Given the description of an element on the screen output the (x, y) to click on. 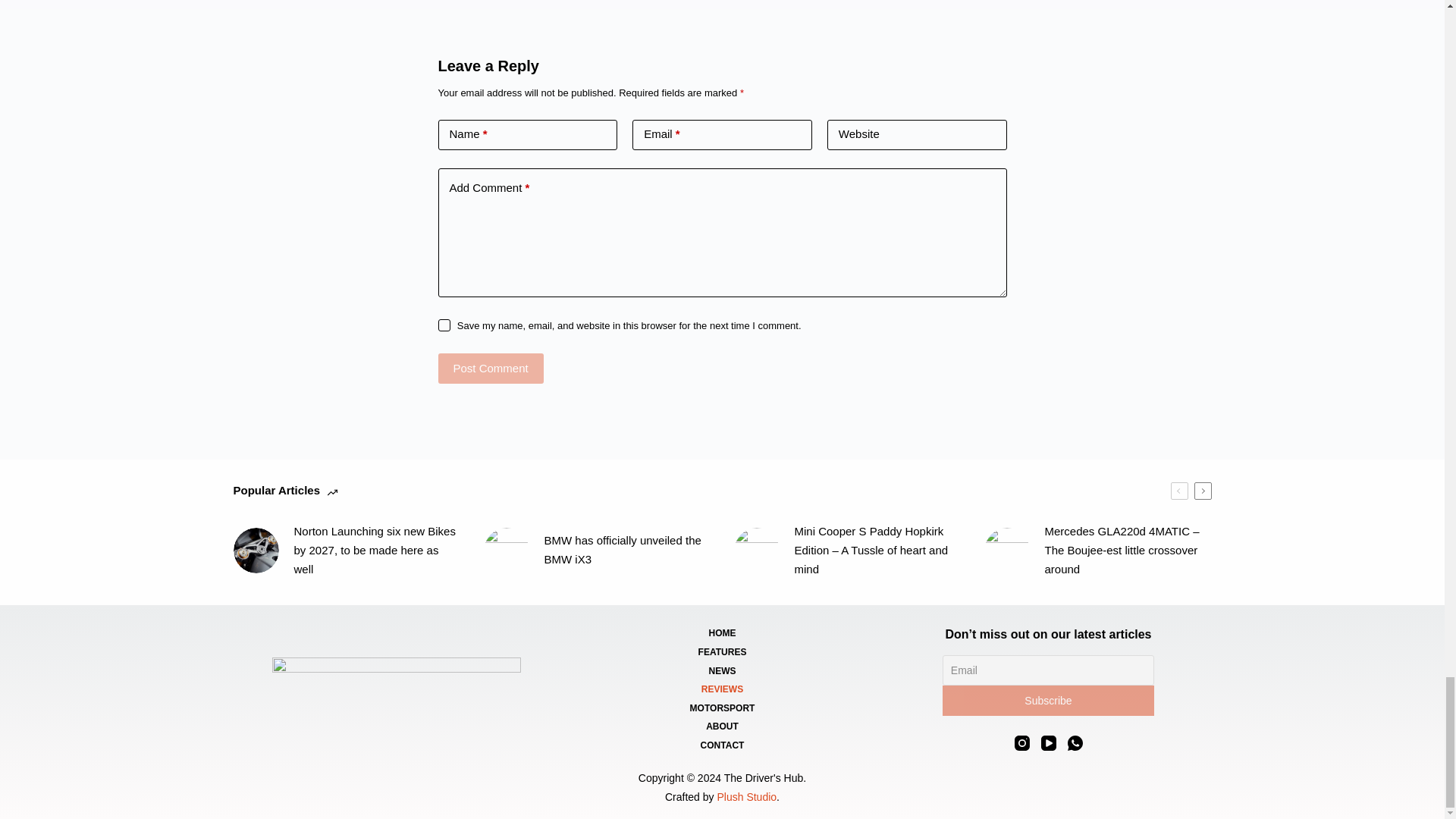
yes (443, 325)
Subscribe (1048, 700)
